Given the description of an element on the screen output the (x, y) to click on. 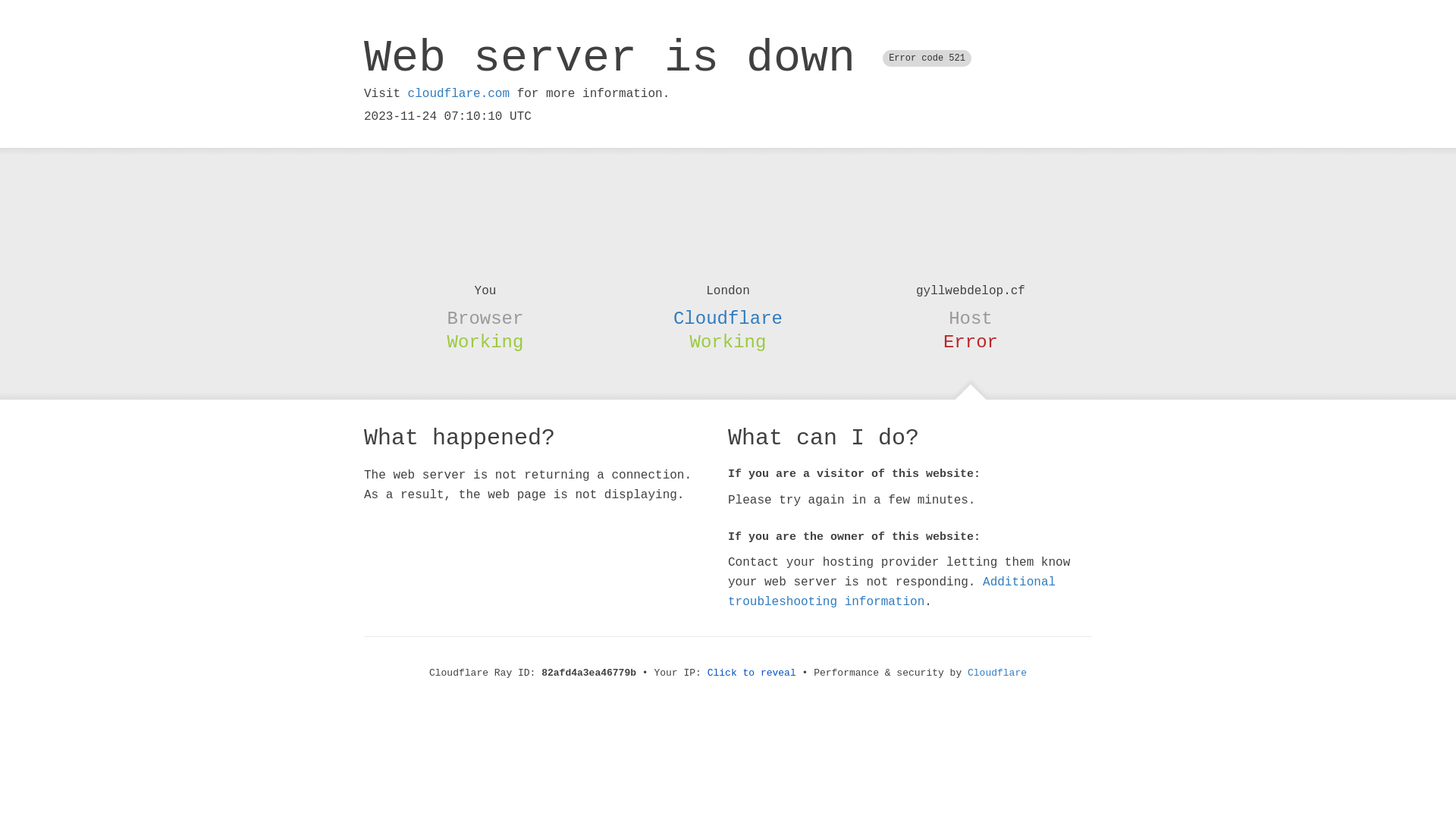
cloudflare.com Element type: text (458, 93)
Cloudflare Element type: text (727, 318)
Cloudflare Element type: text (996, 672)
Click to reveal Element type: text (751, 672)
Additional troubleshooting information Element type: text (891, 591)
